Given the description of an element on the screen output the (x, y) to click on. 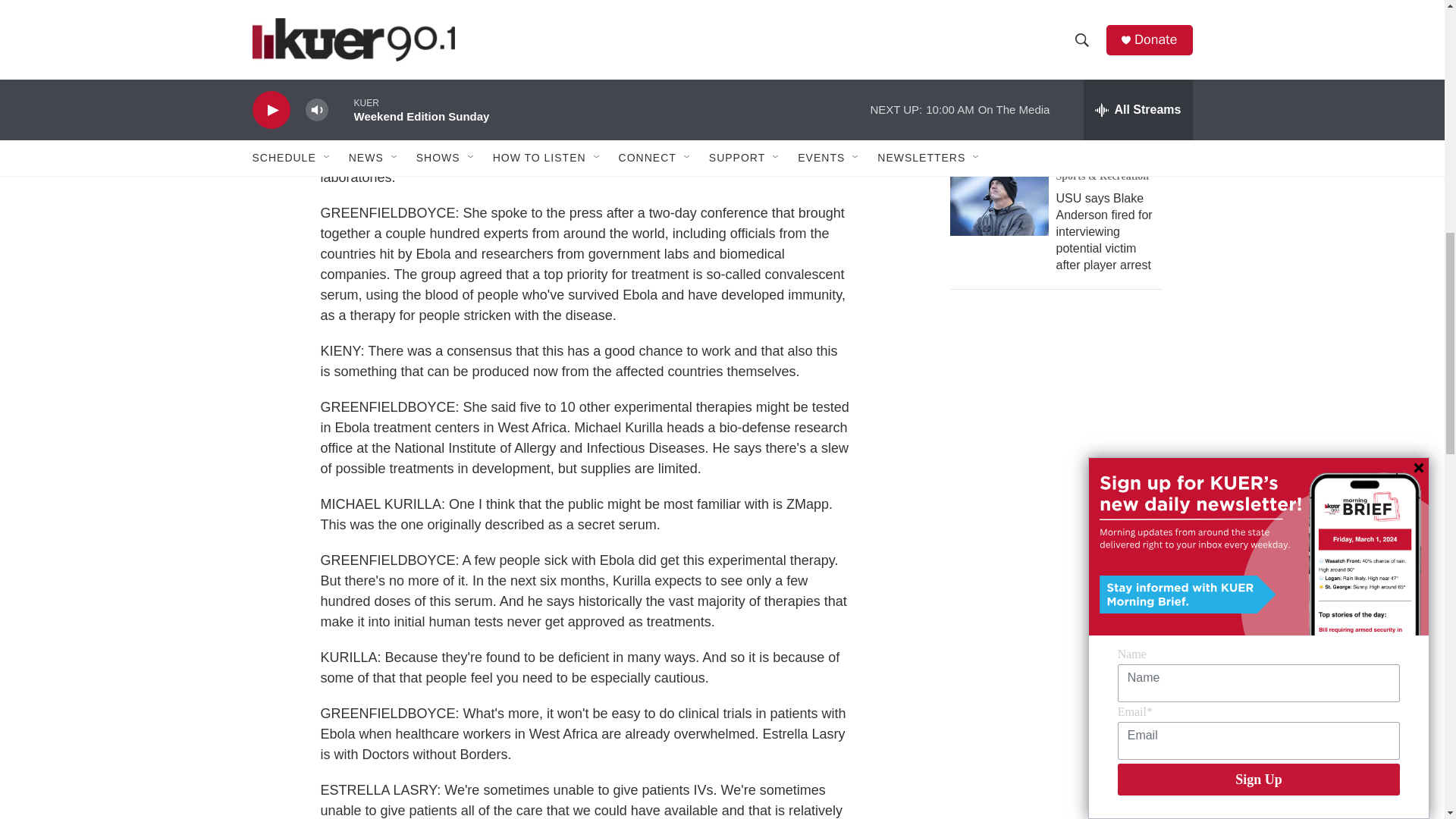
3rd party ad content (1062, 691)
3rd party ad content (1062, 433)
